Given the description of an element on the screen output the (x, y) to click on. 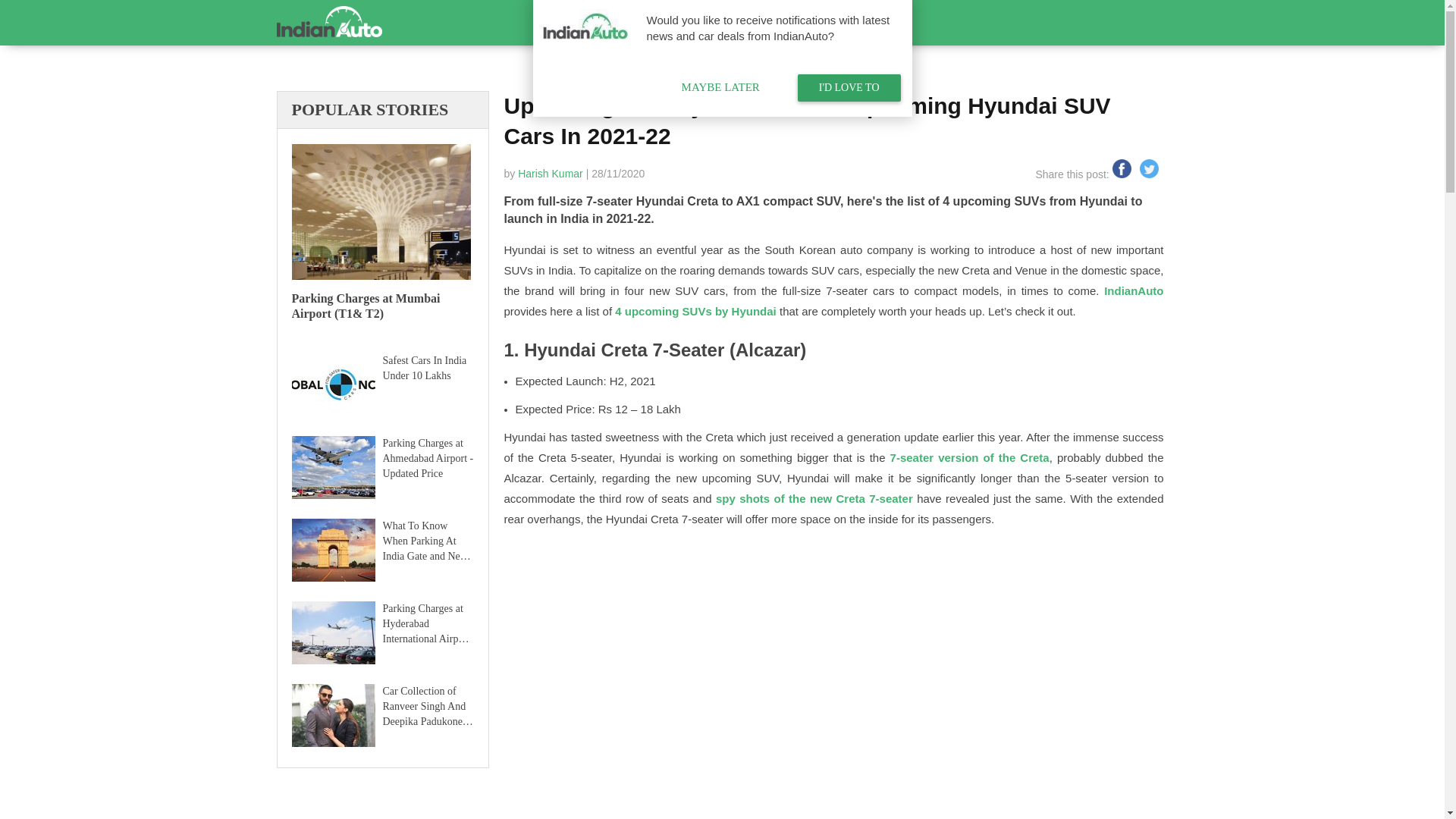
Safest Cars In India Under 10 Lakhs (424, 368)
NEW CARS (408, 67)
FEATURED (608, 67)
Parking Charges at Ahmedabad Airport - Updated Price (424, 457)
USED CARS (330, 67)
Parking Charges at Ahmedabad Airport - Updated Price (332, 469)
SUV CARS (532, 67)
Advertisement (381, 800)
Safest Cars In India Under 10 Lakhs (332, 386)
